Given the description of an element on the screen output the (x, y) to click on. 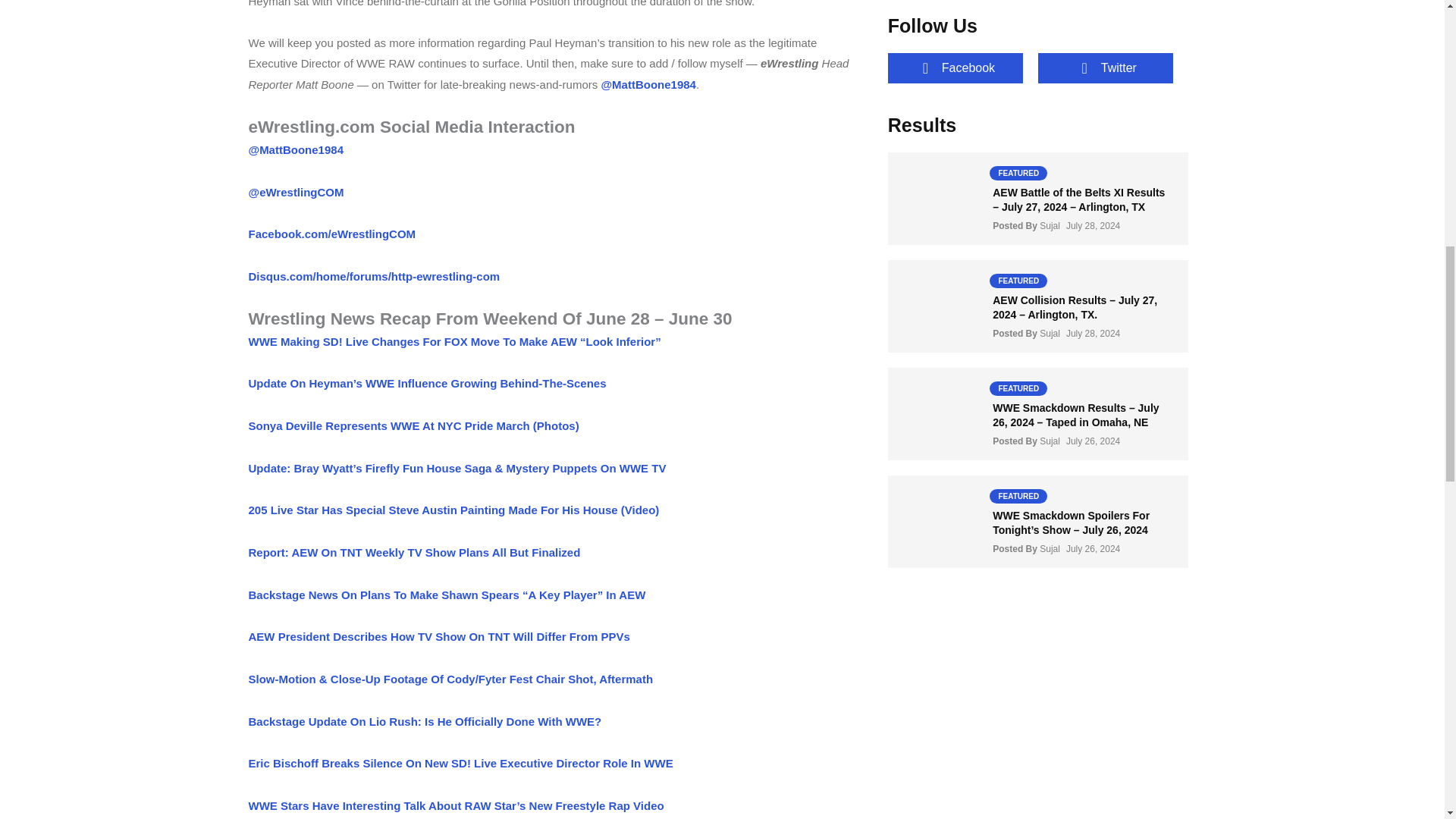
Posts by Sujal (1049, 548)
Posts by Sujal (1049, 333)
Report: AEW On TNT Weekly TV Show Plans All But Finalized (414, 552)
Posts by Sujal (1049, 440)
Posts by Sujal (1049, 225)
